Given the description of an element on the screen output the (x, y) to click on. 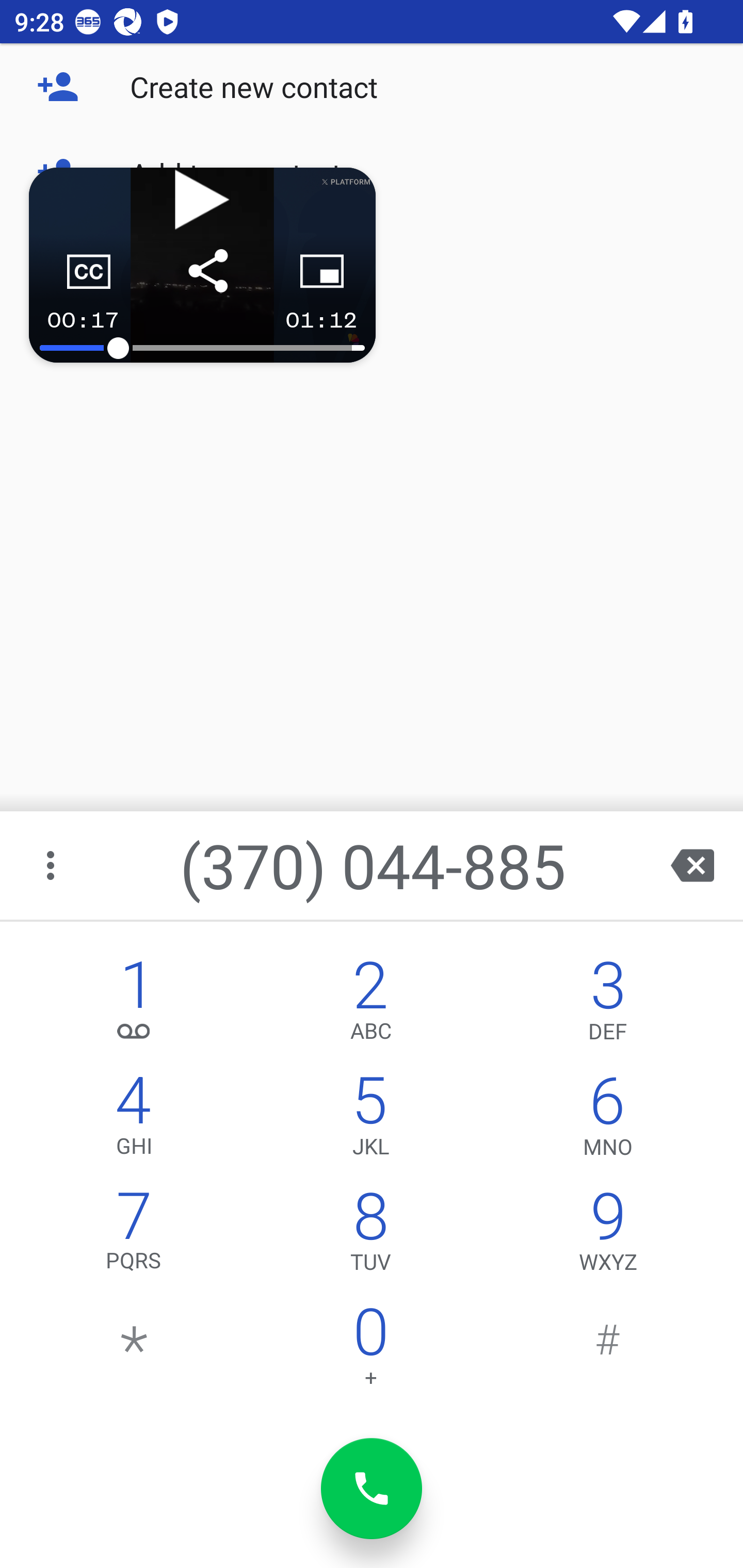
Create new contact (371, 86)
(370) 044-885 (372, 865)
backspace (692, 865)
More options (52, 865)
1, 1 (133, 1005)
2,ABC 2 ABC (370, 1005)
3,DEF 3 DEF (607, 1005)
4,GHI 4 GHI (133, 1120)
5,JKL 5 JKL (370, 1120)
6,MNO 6 MNO (607, 1120)
7,PQRS 7 PQRS (133, 1235)
8,TUV 8 TUV (370, 1235)
9,WXYZ 9 WXYZ (607, 1235)
* (133, 1351)
0 0 + (370, 1351)
# (607, 1351)
dial (371, 1488)
